Given the description of an element on the screen output the (x, y) to click on. 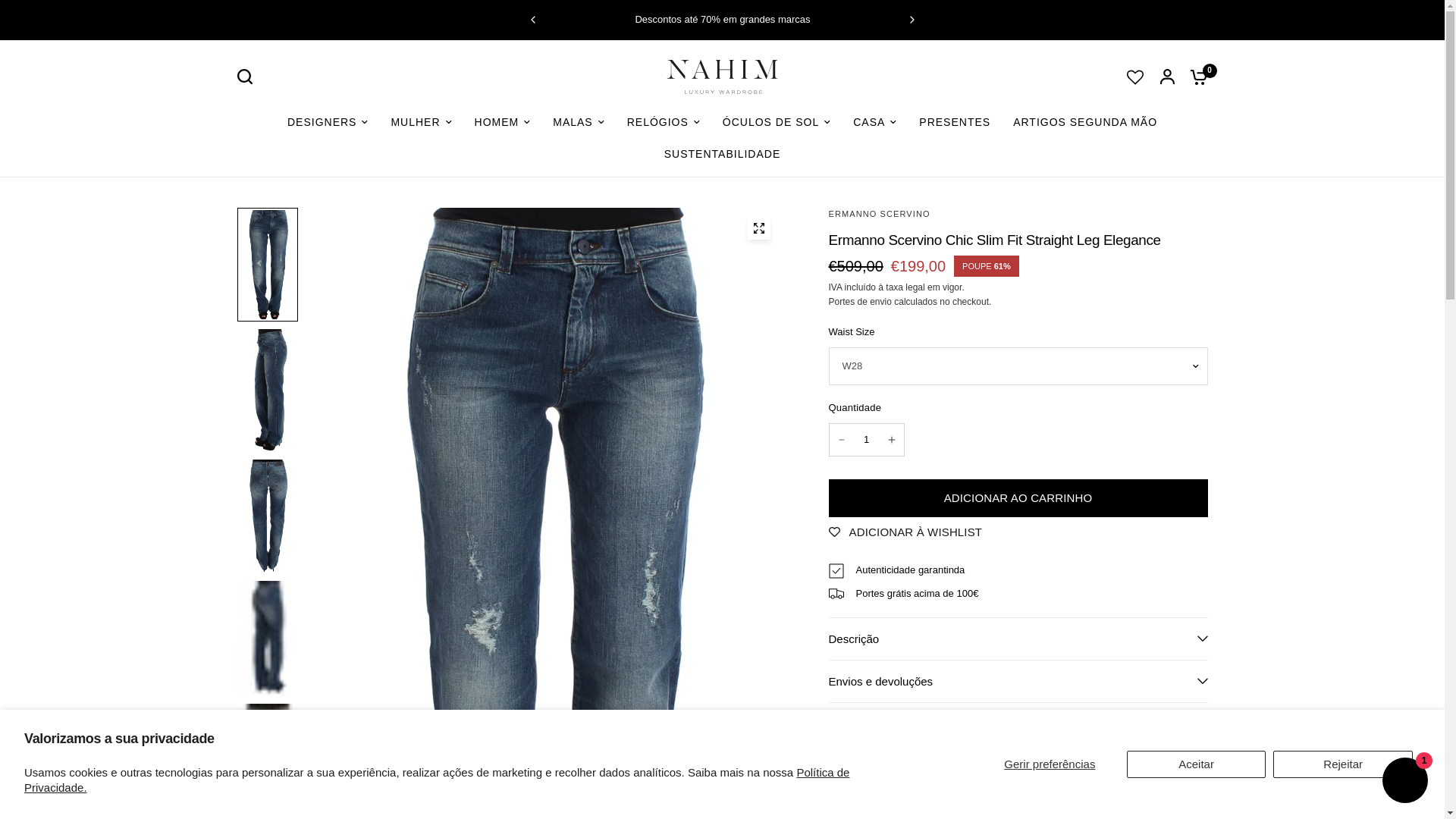
Rejeitar (1342, 764)
Aceitar (1196, 764)
